Given the description of an element on the screen output the (x, y) to click on. 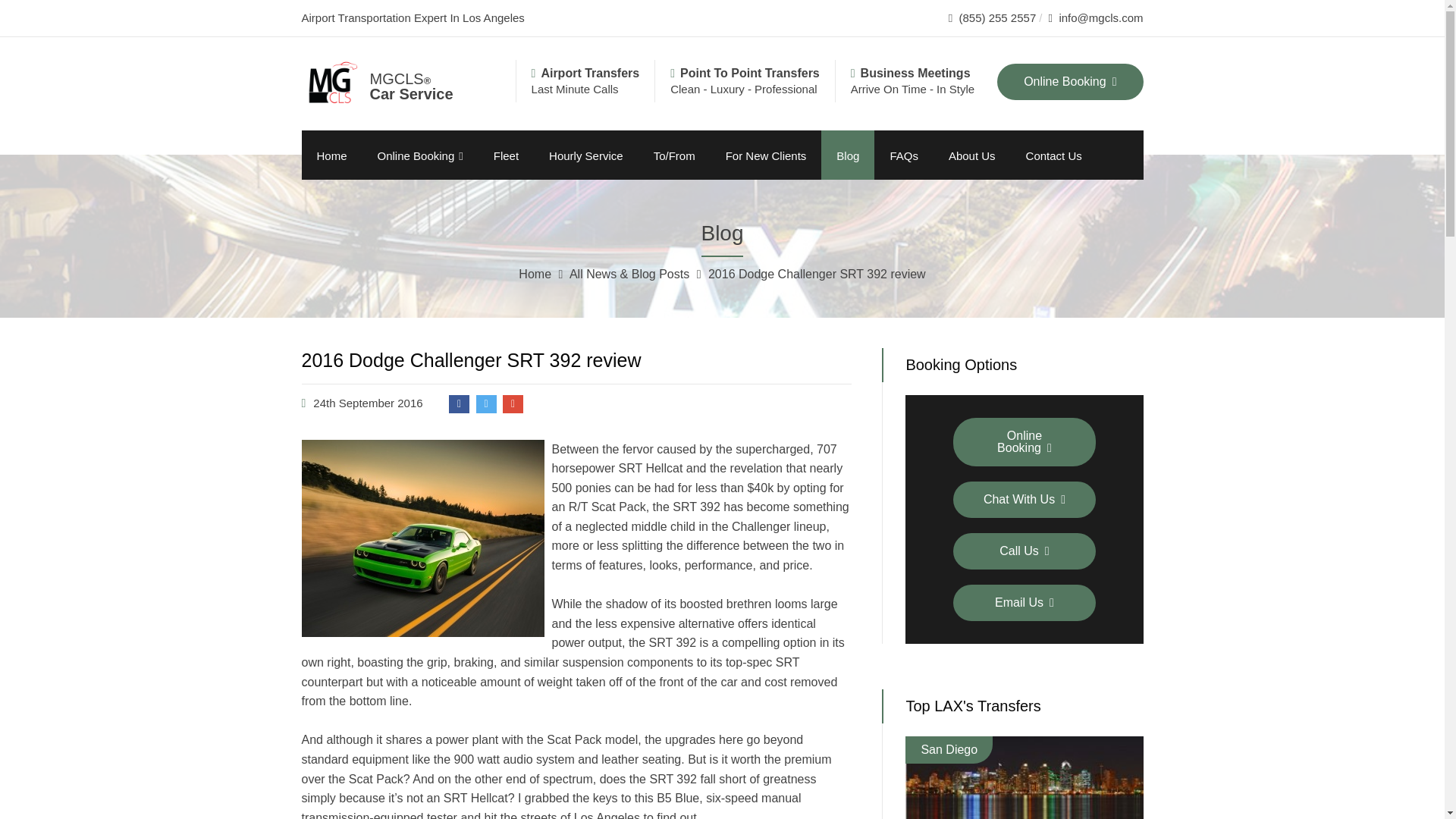
FAQs (904, 154)
Blog (848, 154)
Call Us (1024, 551)
Chat With Us (1024, 499)
Hourly Service (586, 154)
Go To 2016 Dodge Challenger SRT 392 review (816, 273)
Mike G California Limousine Service (418, 78)
Go To Home (536, 273)
San Diego (948, 748)
For New Clients (766, 154)
Fleet (506, 154)
Online Booking (1024, 441)
Home (331, 154)
About Us (971, 154)
Home (536, 273)
